Given the description of an element on the screen output the (x, y) to click on. 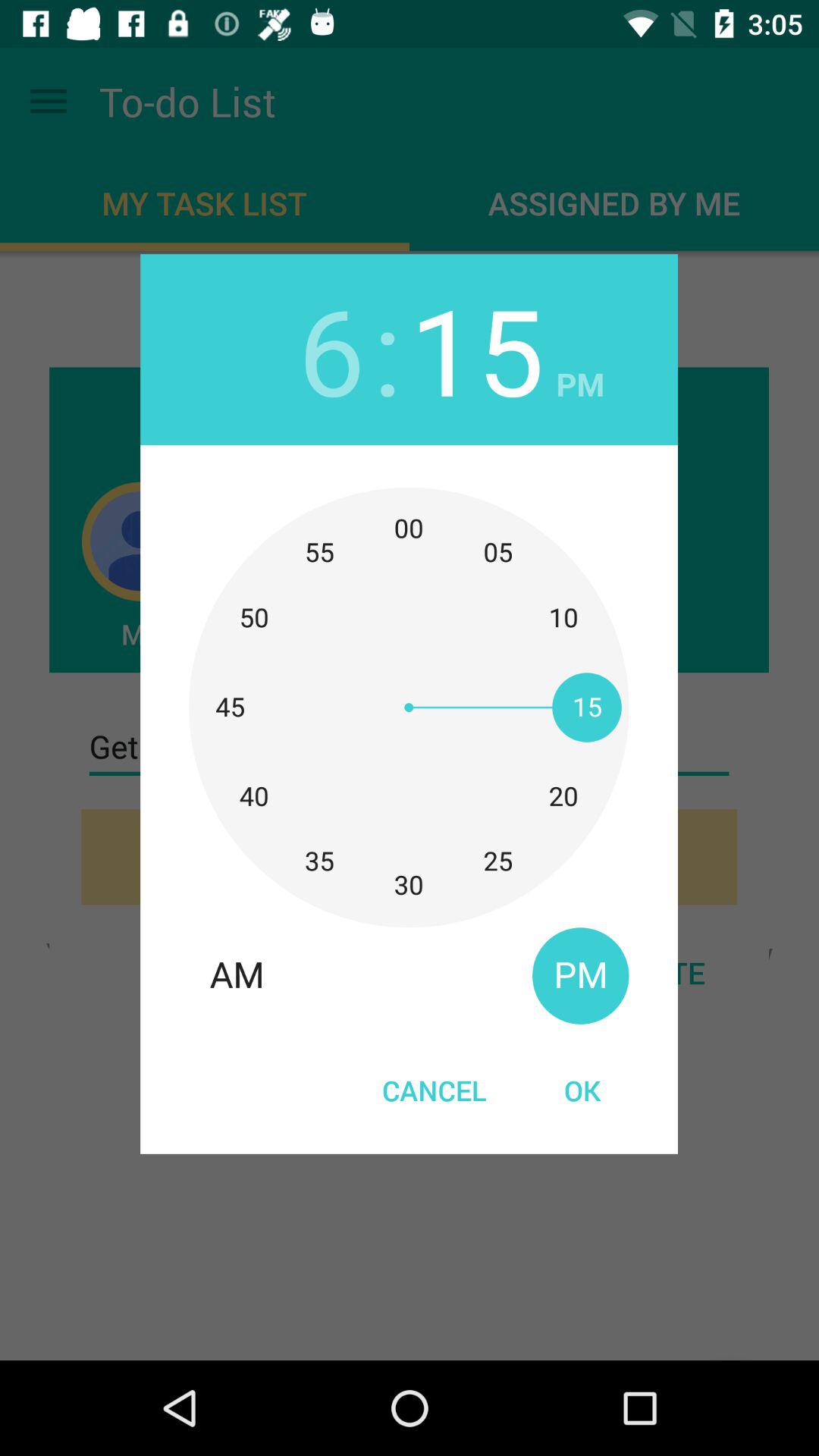
flip to the 15 item (477, 349)
